Given the description of an element on the screen output the (x, y) to click on. 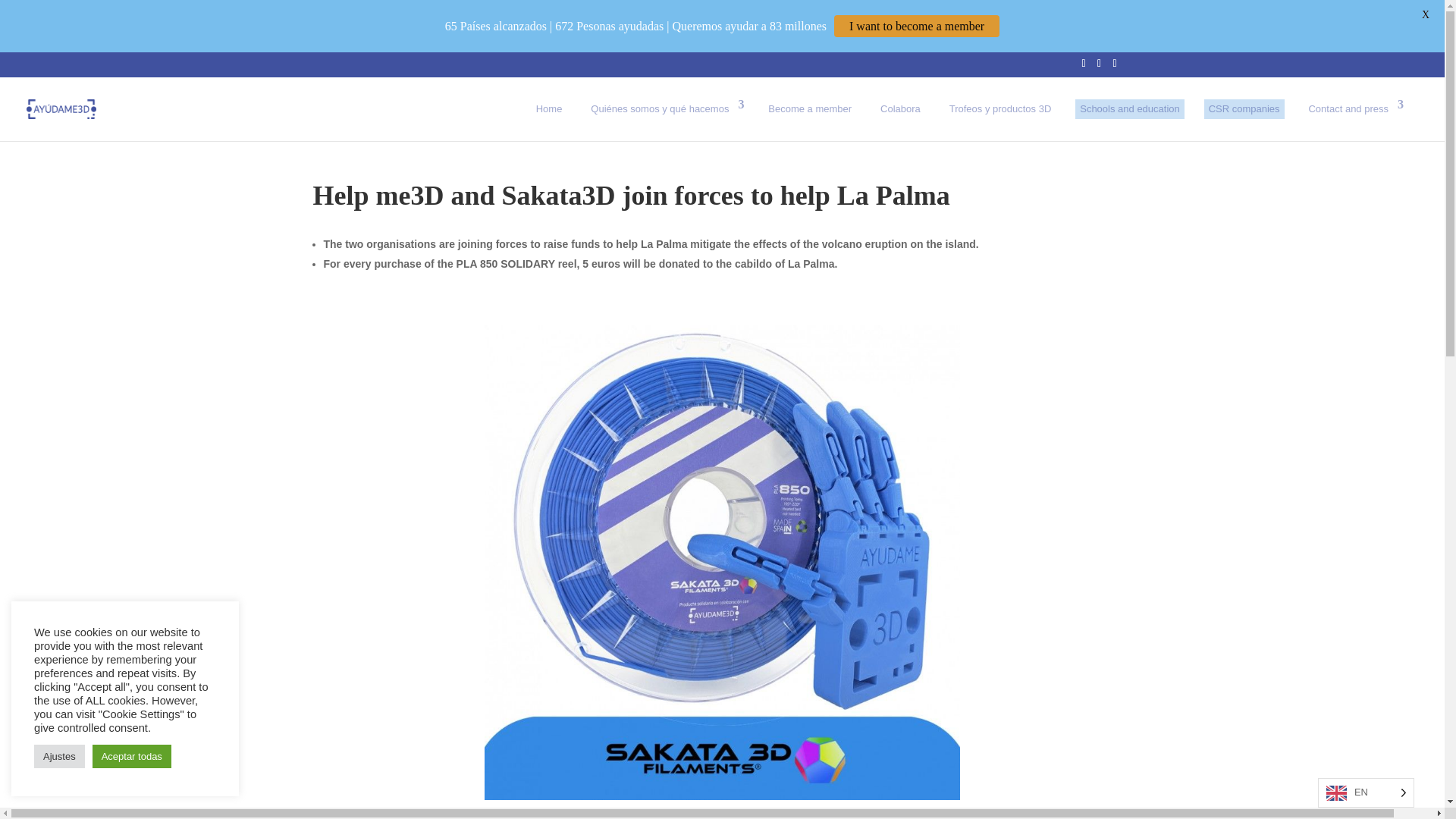
Colabora (900, 108)
Home (549, 108)
Contact and press (1353, 108)
CSR companies (1244, 108)
Trofeos y productos 3D (1000, 108)
Schools and education (1130, 108)
Become a member (809, 108)
